Given the description of an element on the screen output the (x, y) to click on. 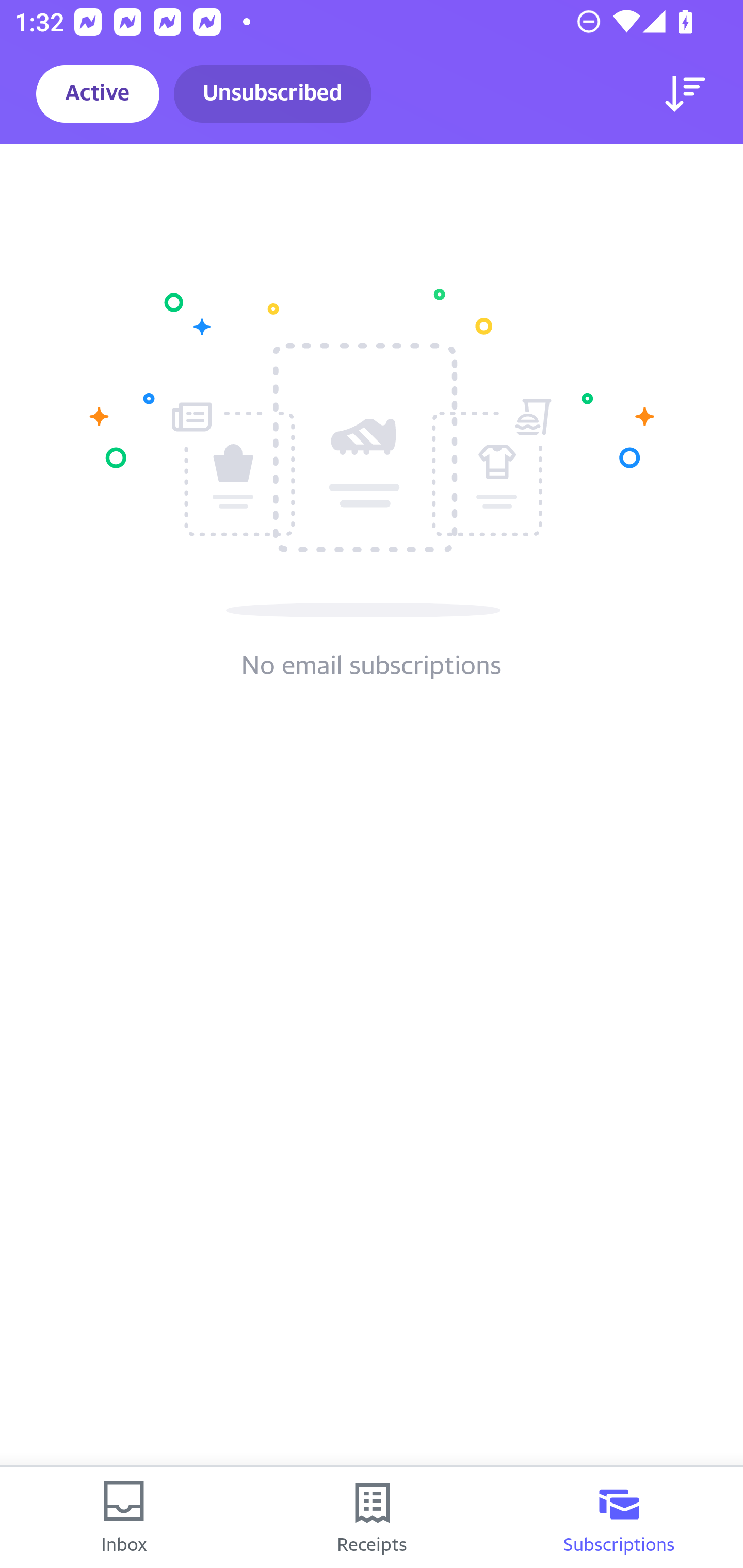
Unsubscribed (272, 93)
Sort (684, 93)
Inbox (123, 1517)
Receipts (371, 1517)
Subscriptions (619, 1517)
